Given the description of an element on the screen output the (x, y) to click on. 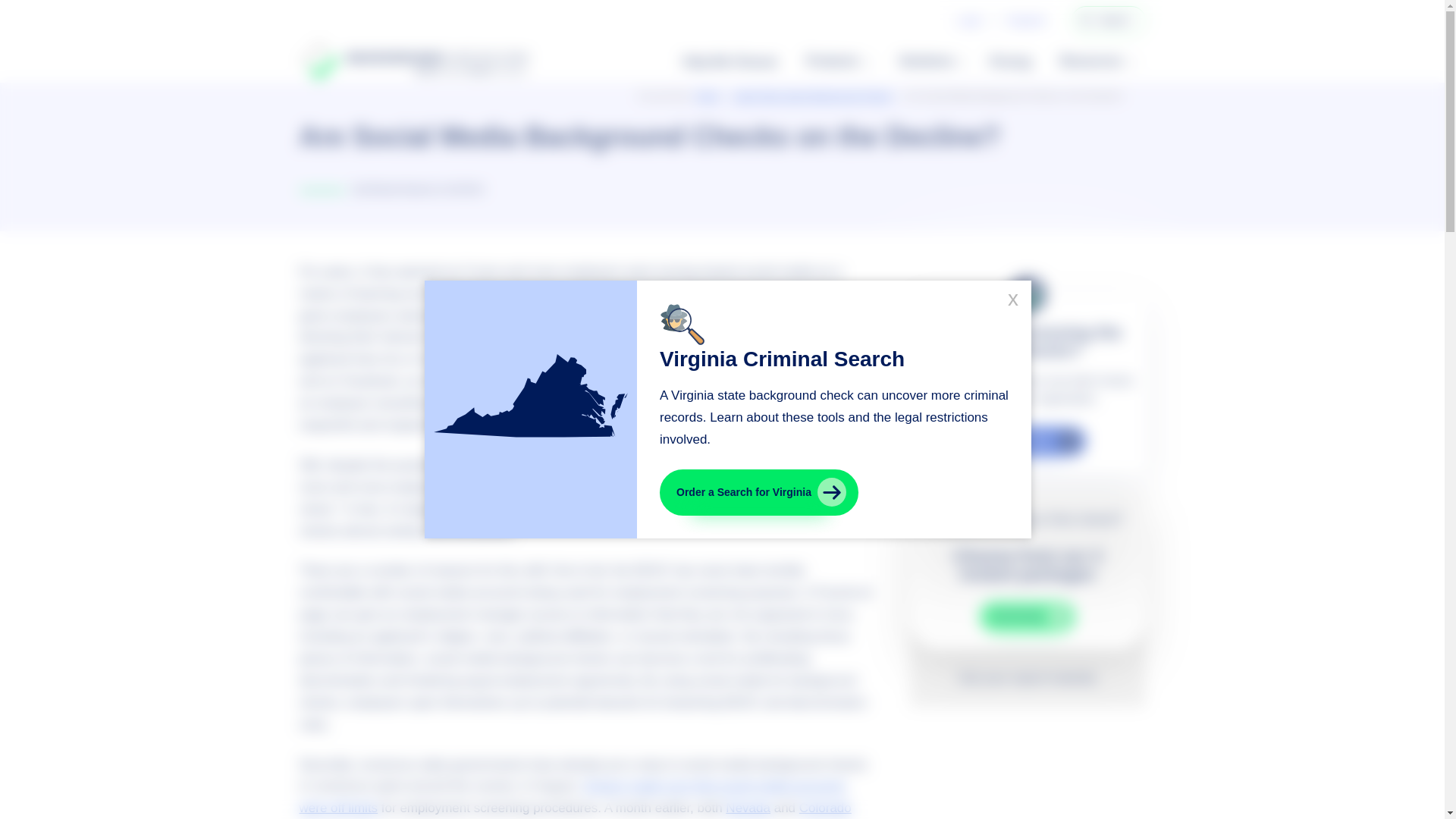
Search (1085, 20)
